Given the description of an element on the screen output the (x, y) to click on. 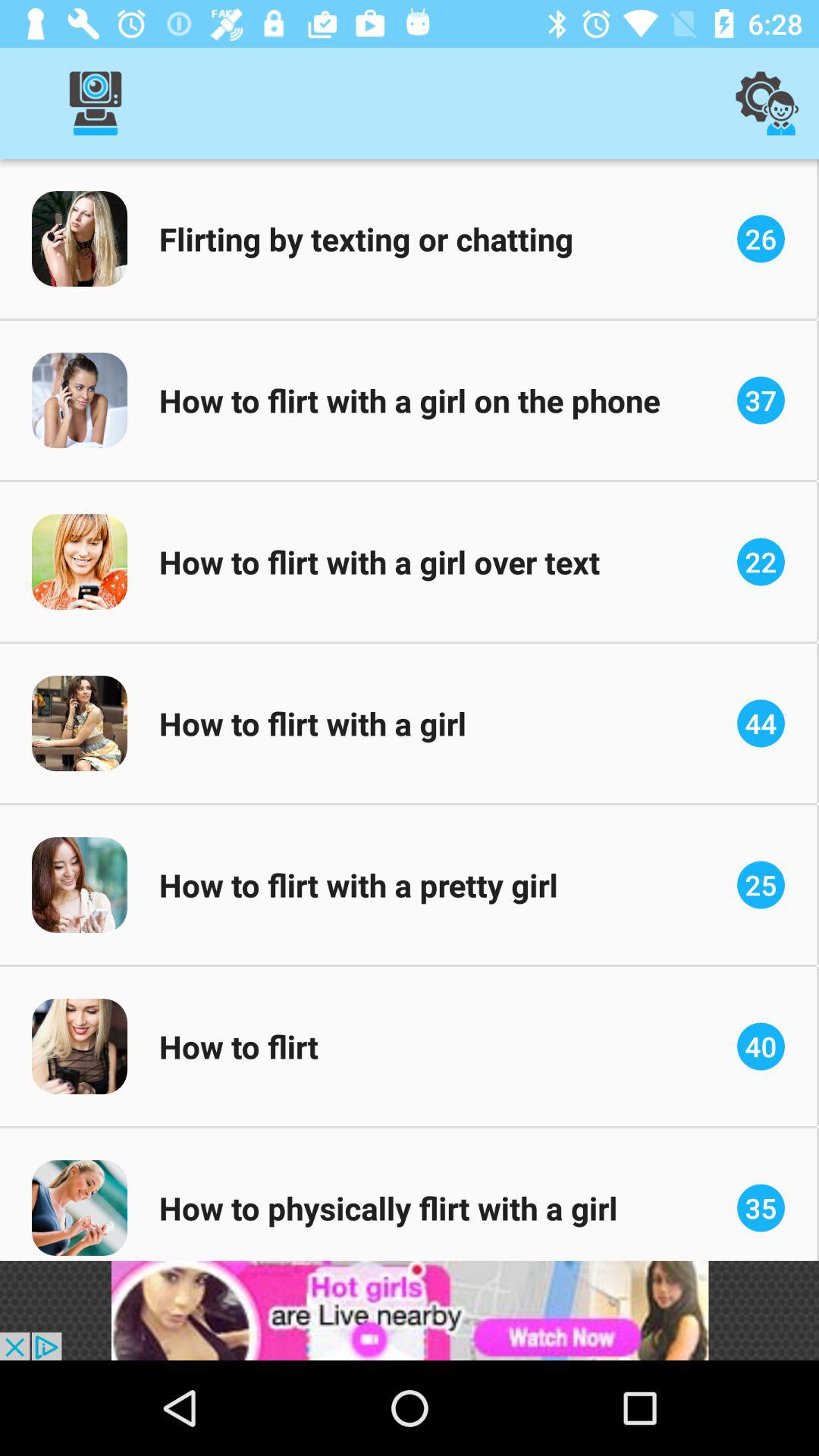
advertisement image (409, 1310)
